Given the description of an element on the screen output the (x, y) to click on. 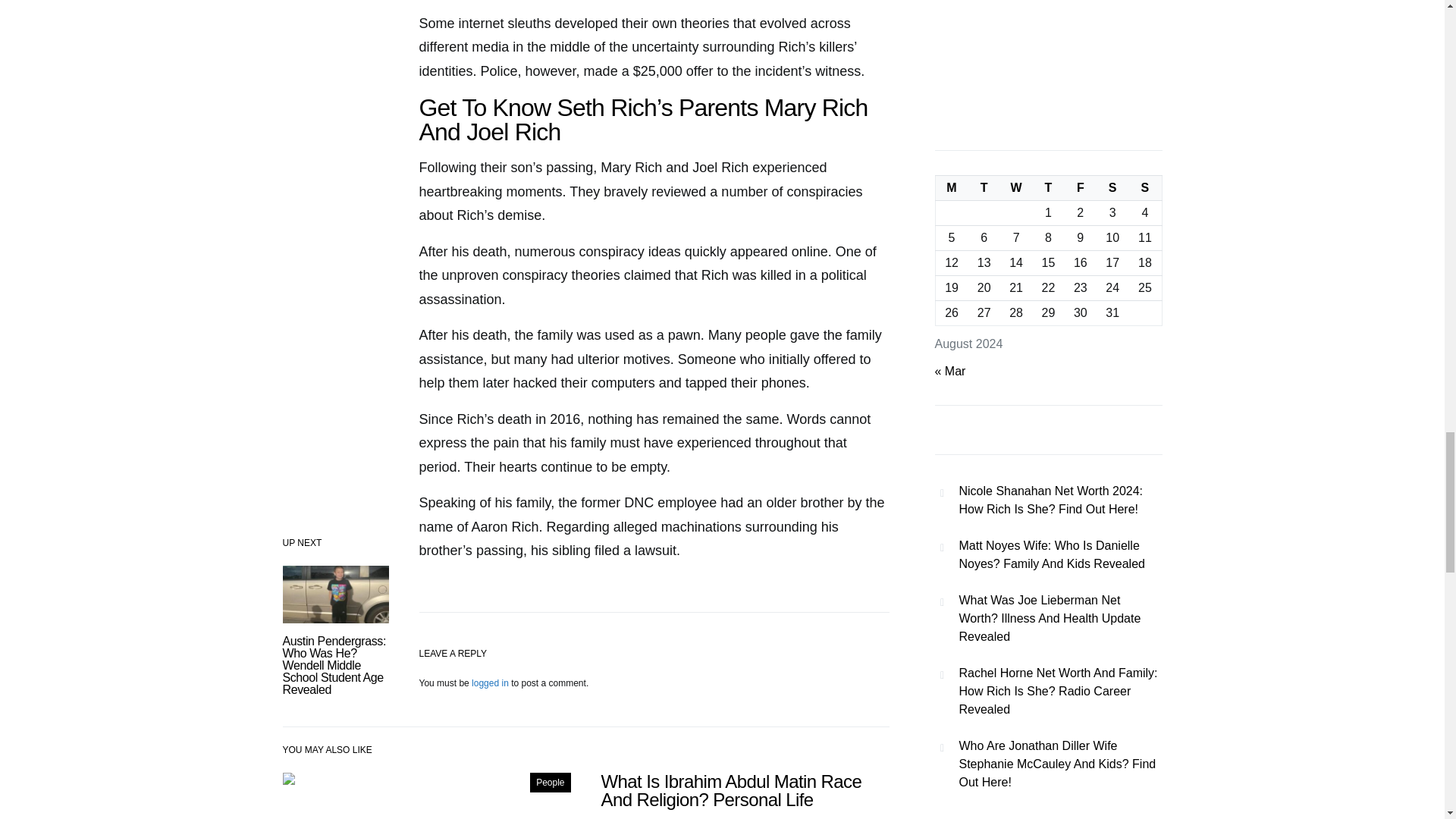
People (549, 781)
logged in (489, 683)
